Given the description of an element on the screen output the (x, y) to click on. 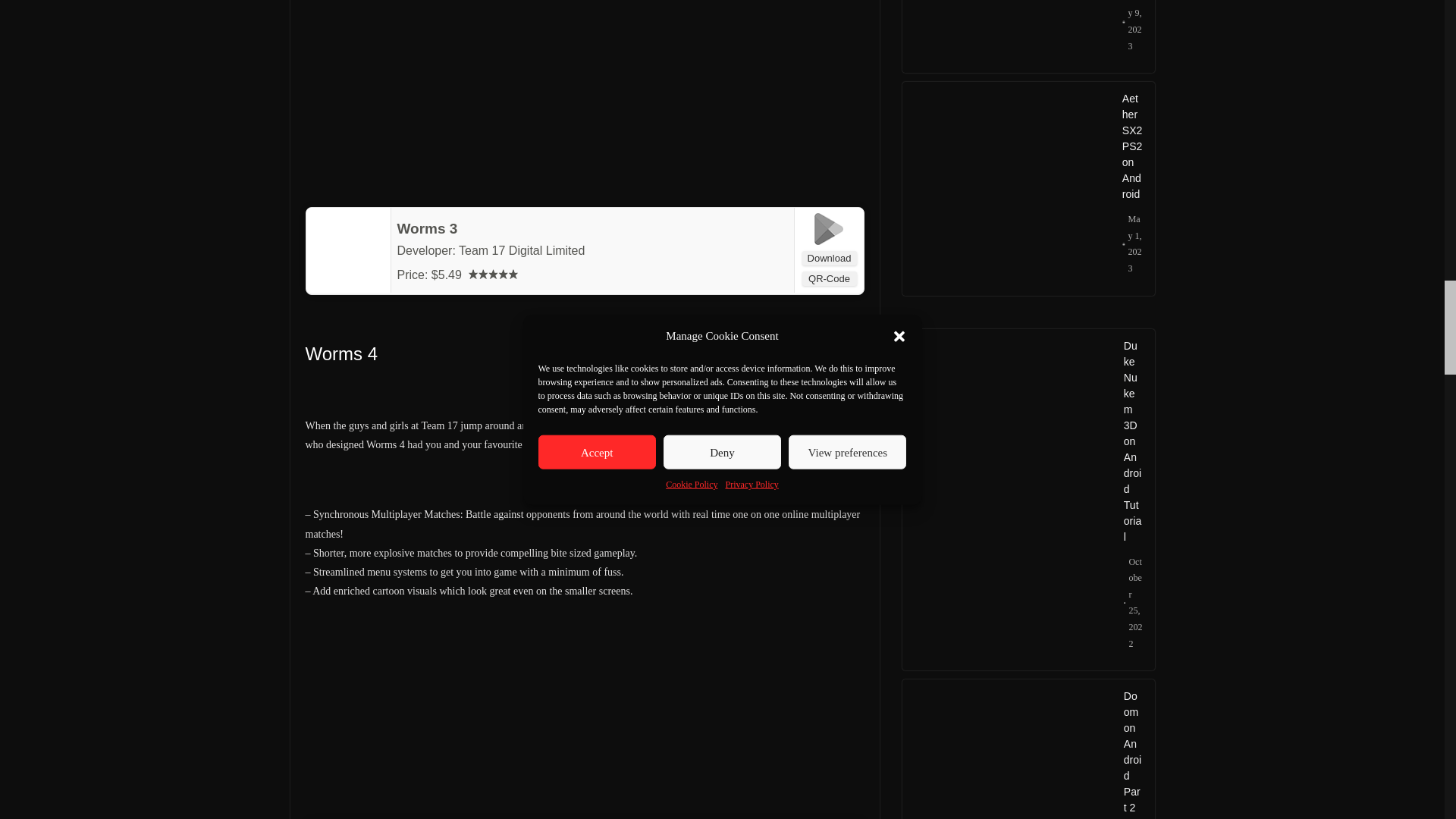
5 of 5 stars (493, 274)
Worms 3 (427, 228)
